Given the description of an element on the screen output the (x, y) to click on. 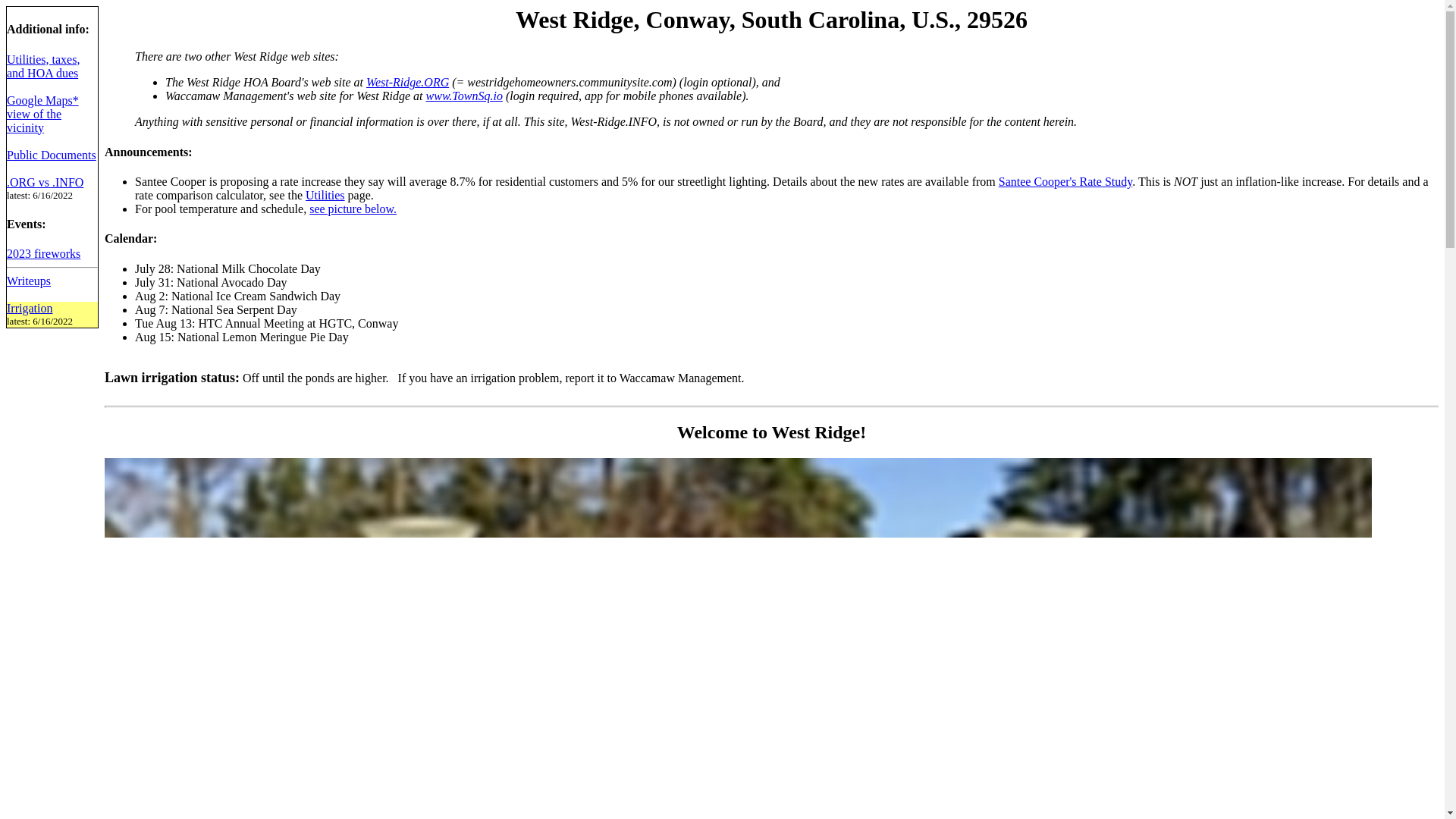
www.TownSq.io (464, 95)
irrigation schedule (29, 308)
Writeups (28, 280)
Irrigation (29, 308)
2023 fireworks (43, 253)
.ORG vs .INFO (44, 182)
Santee Cooper's Rate Study (1065, 181)
Utilities (325, 195)
West-Ridge.ORG (407, 82)
Utilities, taxes, and HOA dues (43, 66)
Public Documents (51, 154)
see picture below. (352, 208)
